Given the description of an element on the screen output the (x, y) to click on. 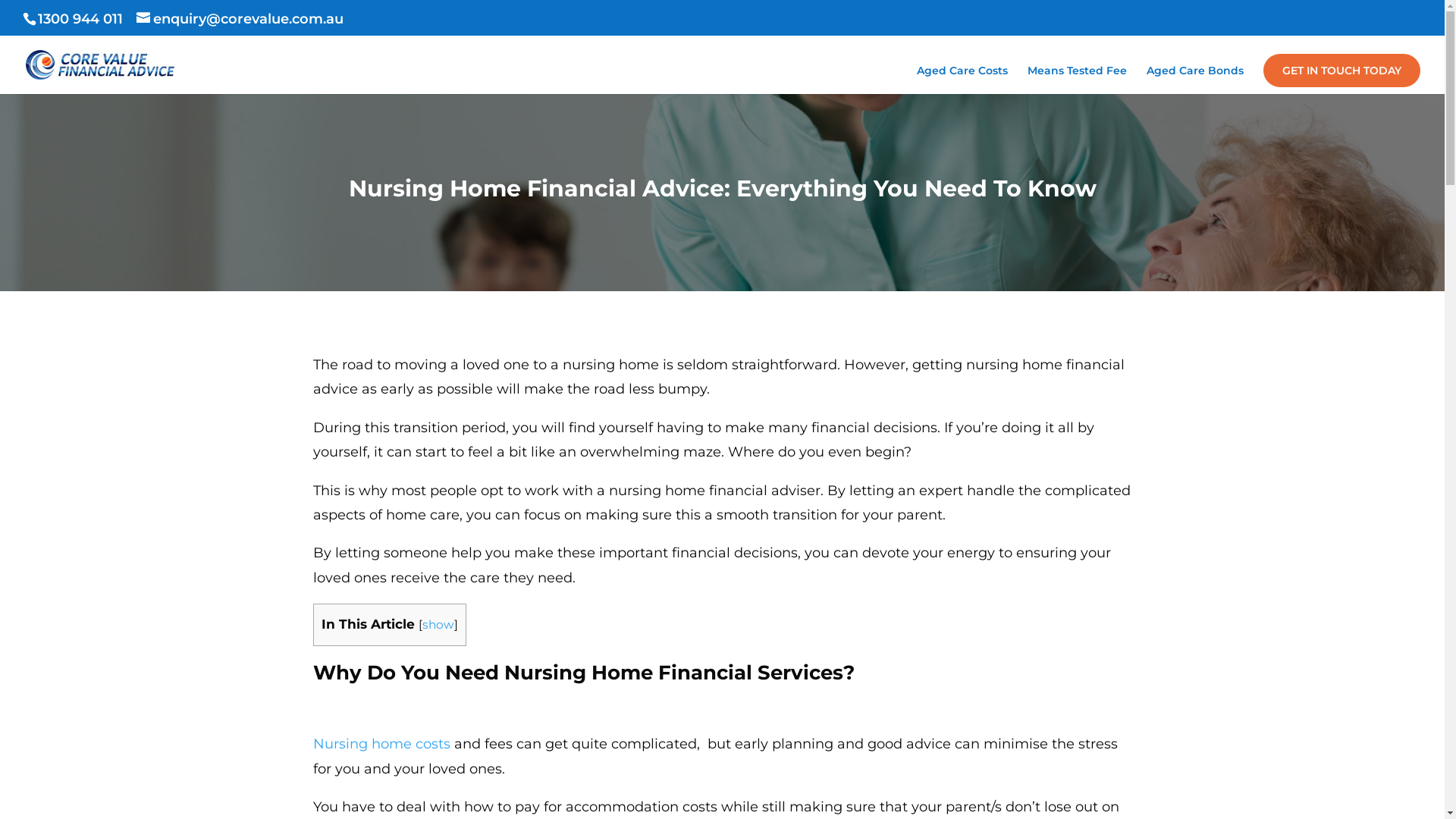
Aged Care Bonds Element type: text (1194, 79)
Aged Care Costs Element type: text (961, 79)
enquiry@corevalue.com.au Element type: text (239, 18)
Means Tested Fee Element type: text (1076, 79)
show Element type: text (437, 624)
Nursing home costs Element type: text (380, 743)
GET IN TOUCH TODAY Element type: text (1341, 70)
